Given the description of an element on the screen output the (x, y) to click on. 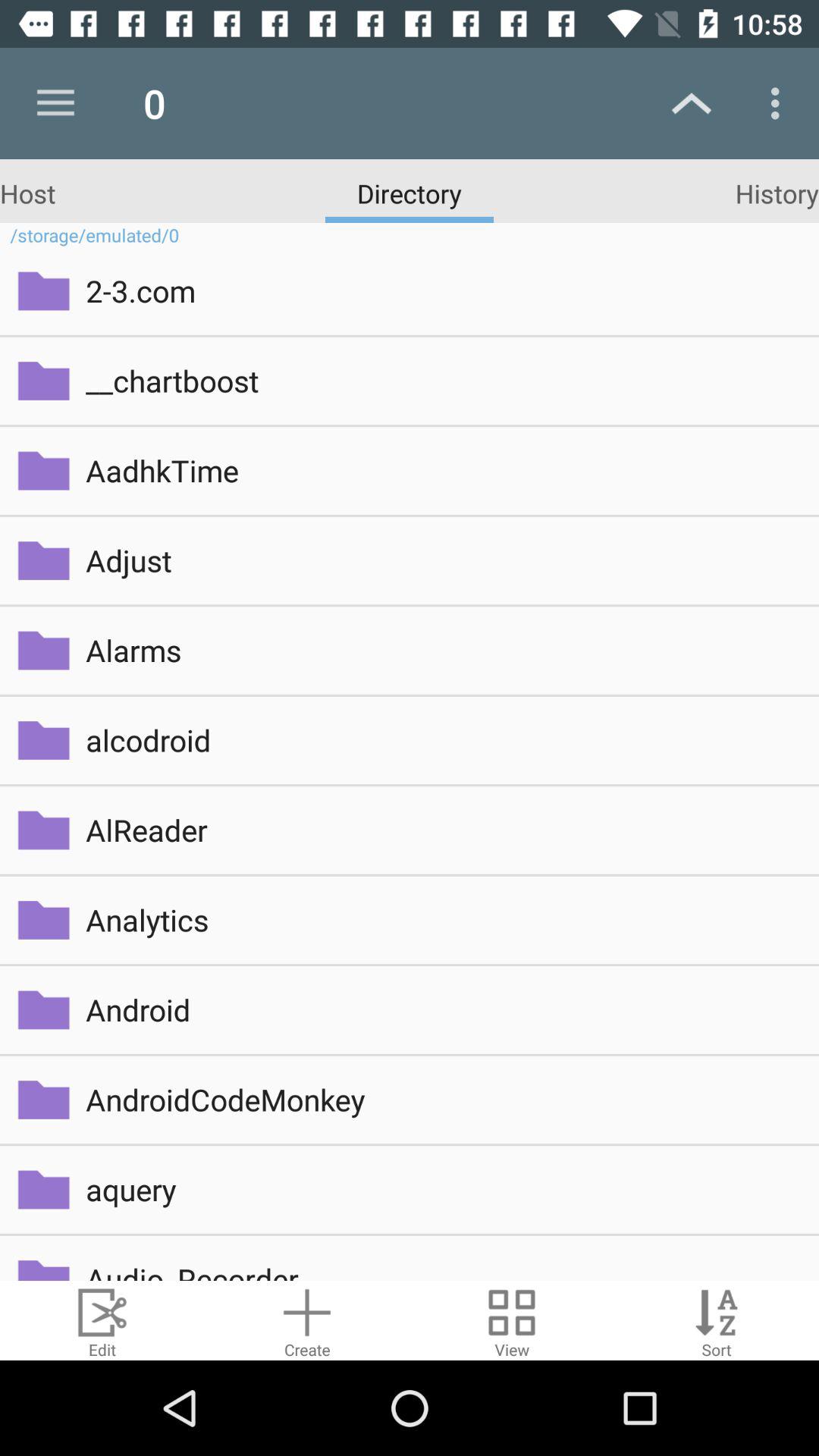
edit directory info (102, 1320)
